Given the description of an element on the screen output the (x, y) to click on. 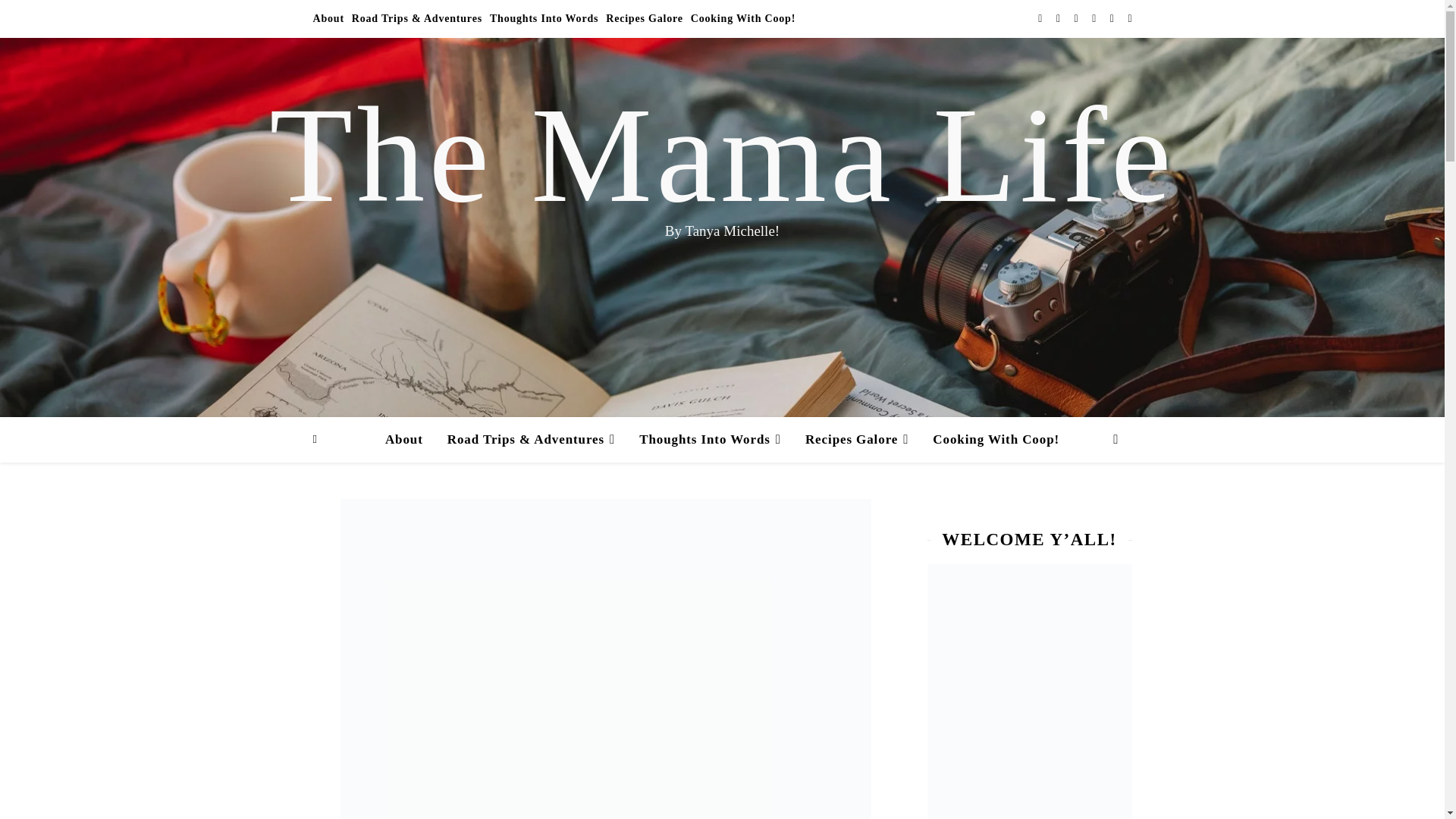
About (410, 439)
The Mama Life (721, 155)
Cooking With Coop! (989, 439)
Thoughts Into Words (710, 439)
Recipes Galore (644, 18)
About (330, 18)
Recipes Galore (856, 439)
Cooking With Coop! (740, 18)
Thoughts Into Words (544, 18)
